Given the description of an element on the screen output the (x, y) to click on. 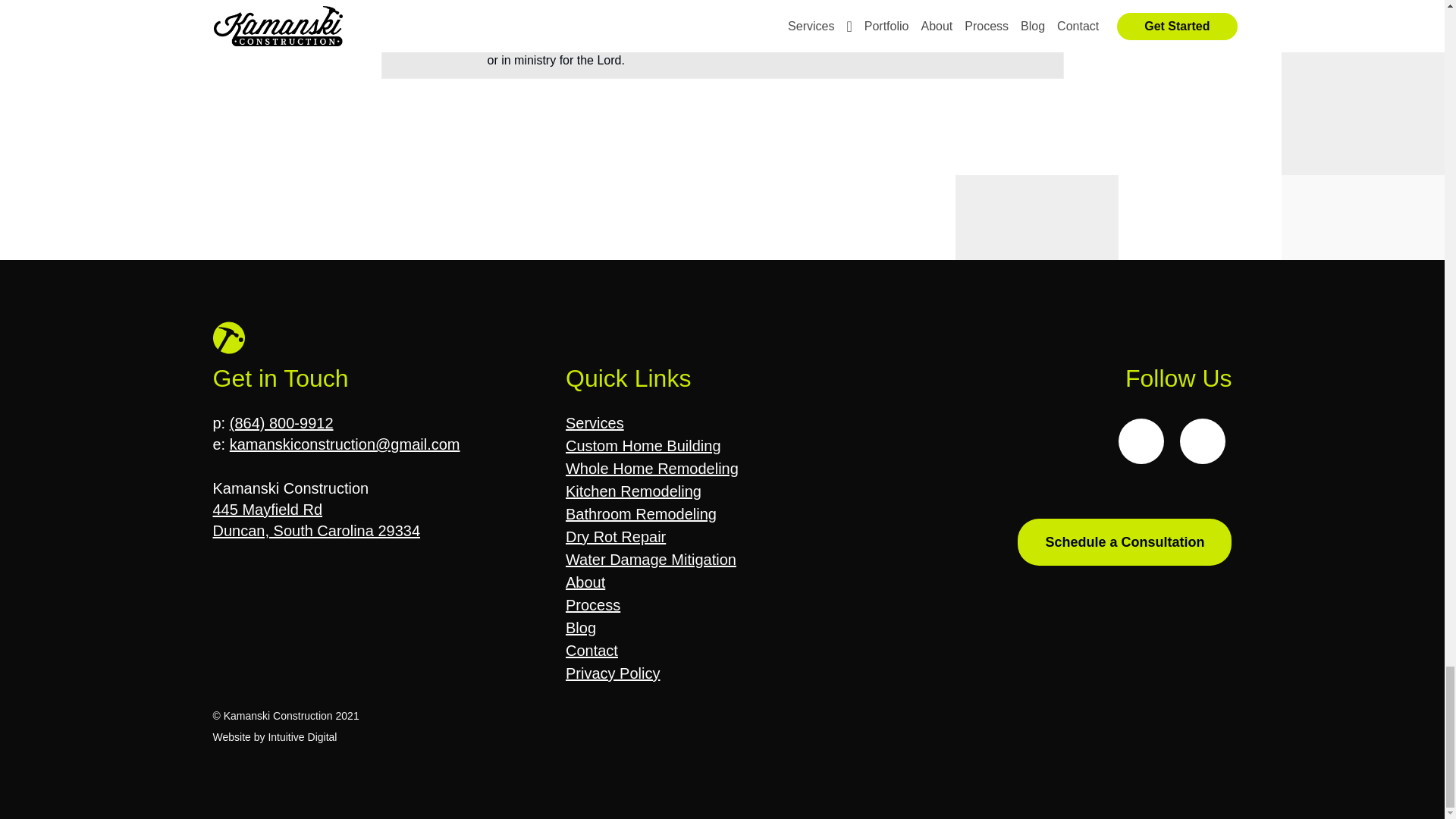
Custom Home Building (643, 445)
Services (595, 422)
445 Mayfield Rd (266, 509)
Duncan, South Carolina 29334 (316, 530)
